Given the description of an element on the screen output the (x, y) to click on. 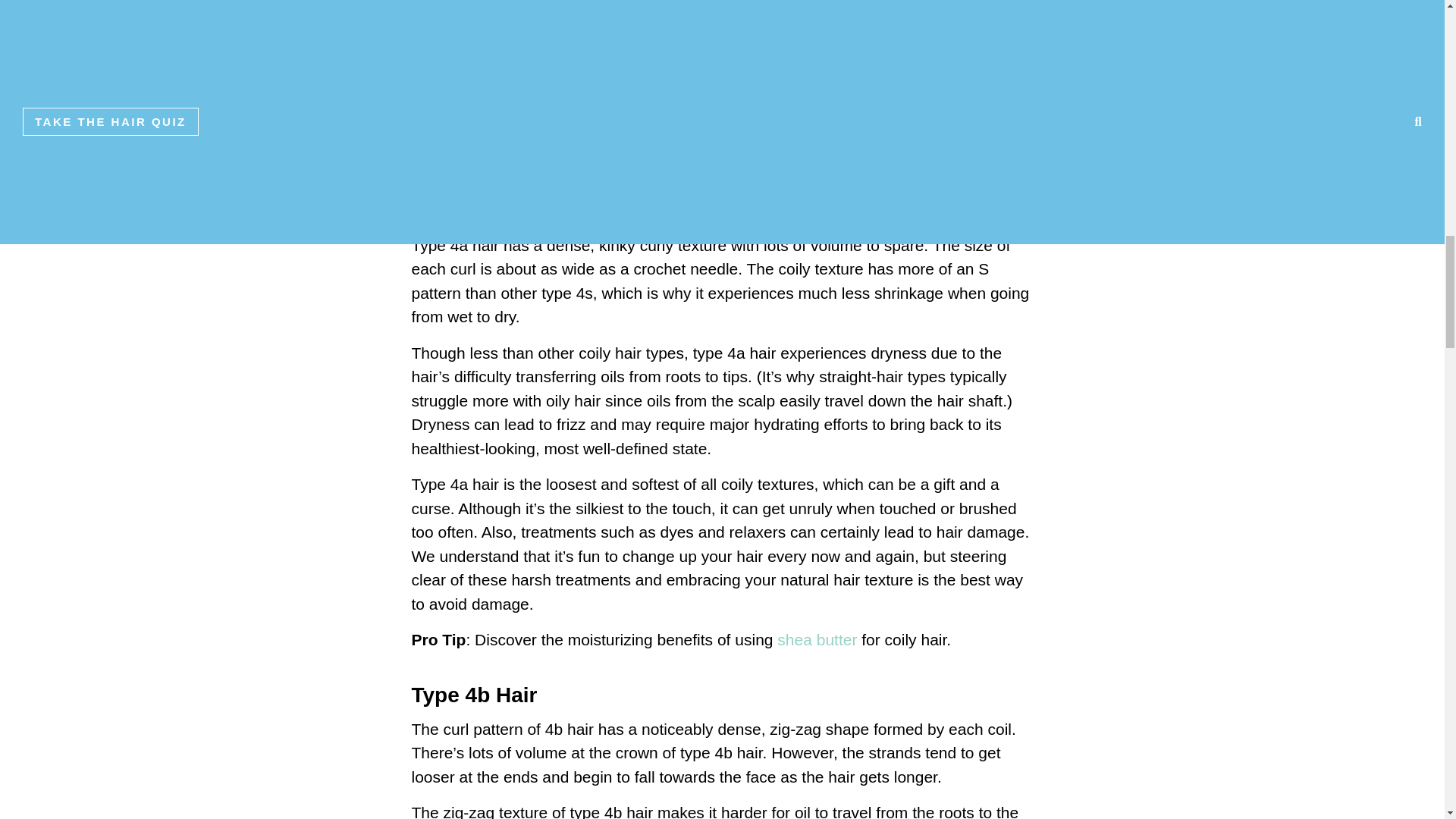
shea butter (815, 639)
coarse hair (718, 119)
type 4 hair (881, 4)
